Given the description of an element on the screen output the (x, y) to click on. 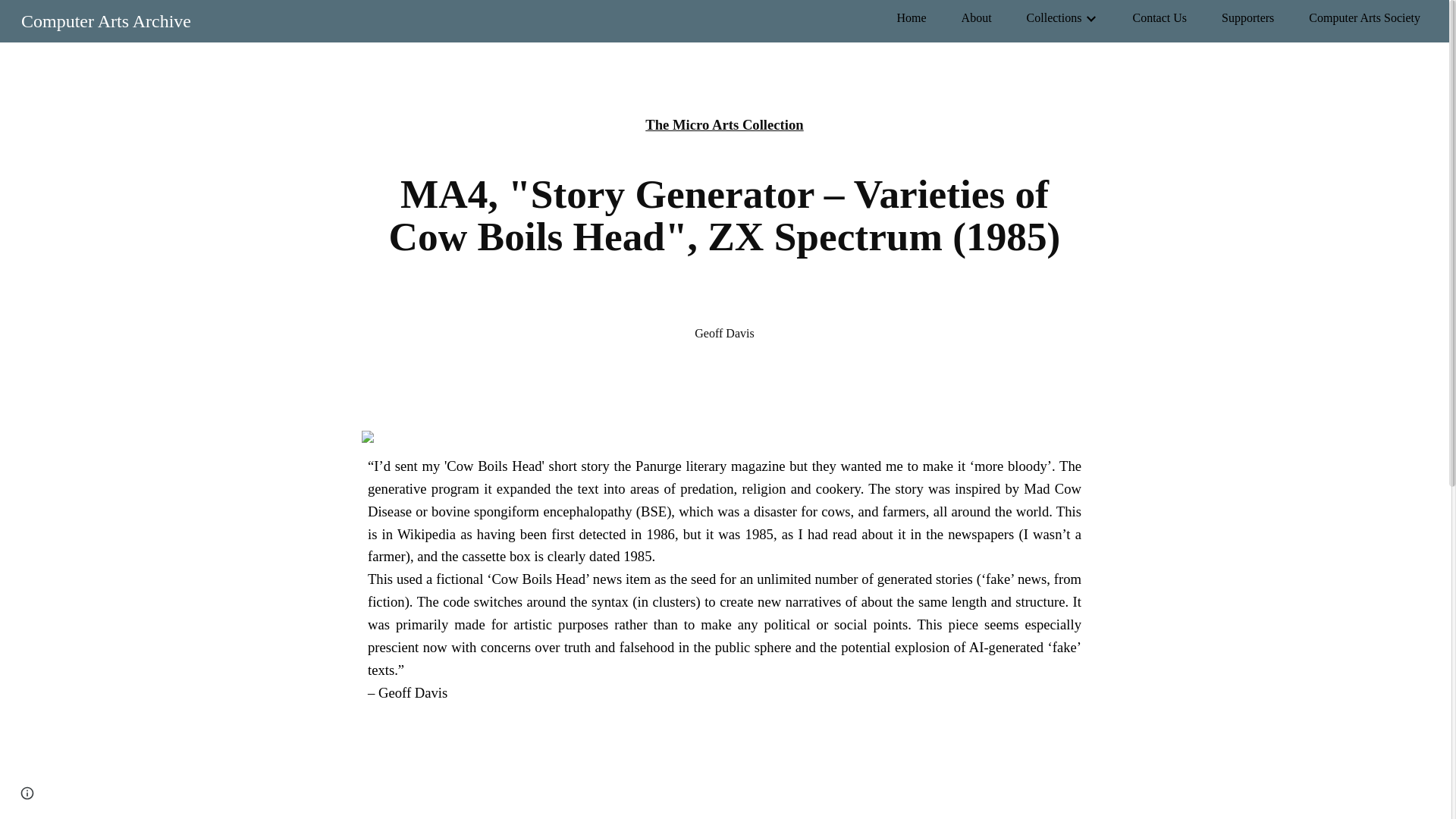
Home (911, 17)
Supporters (1247, 17)
Contact Us (1159, 17)
About (975, 17)
Computer Arts Society (1364, 17)
Collections (1053, 17)
Computer Arts Archive (105, 19)
The Micro Arts Collection (724, 124)
